Given the description of an element on the screen output the (x, y) to click on. 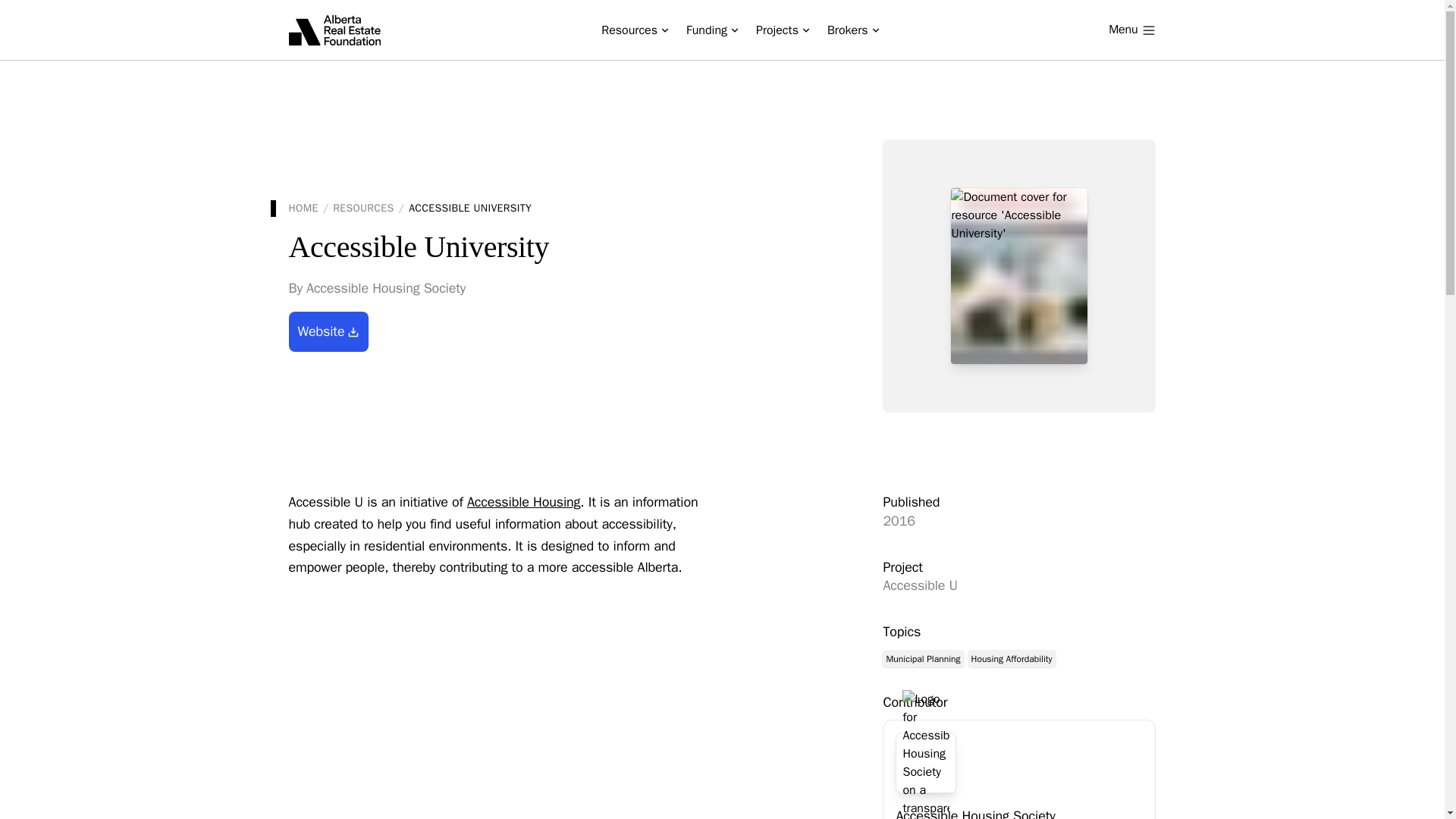
RESOURCES (363, 207)
Projects (782, 30)
Housing Affordability (1011, 658)
Menu (1131, 30)
Accessible Housing (523, 501)
Funding (711, 30)
Accessible U (1019, 585)
Municipal Planning (922, 658)
HOME (302, 207)
Brokers (853, 30)
Resources (634, 30)
Website (328, 331)
